Given the description of an element on the screen output the (x, y) to click on. 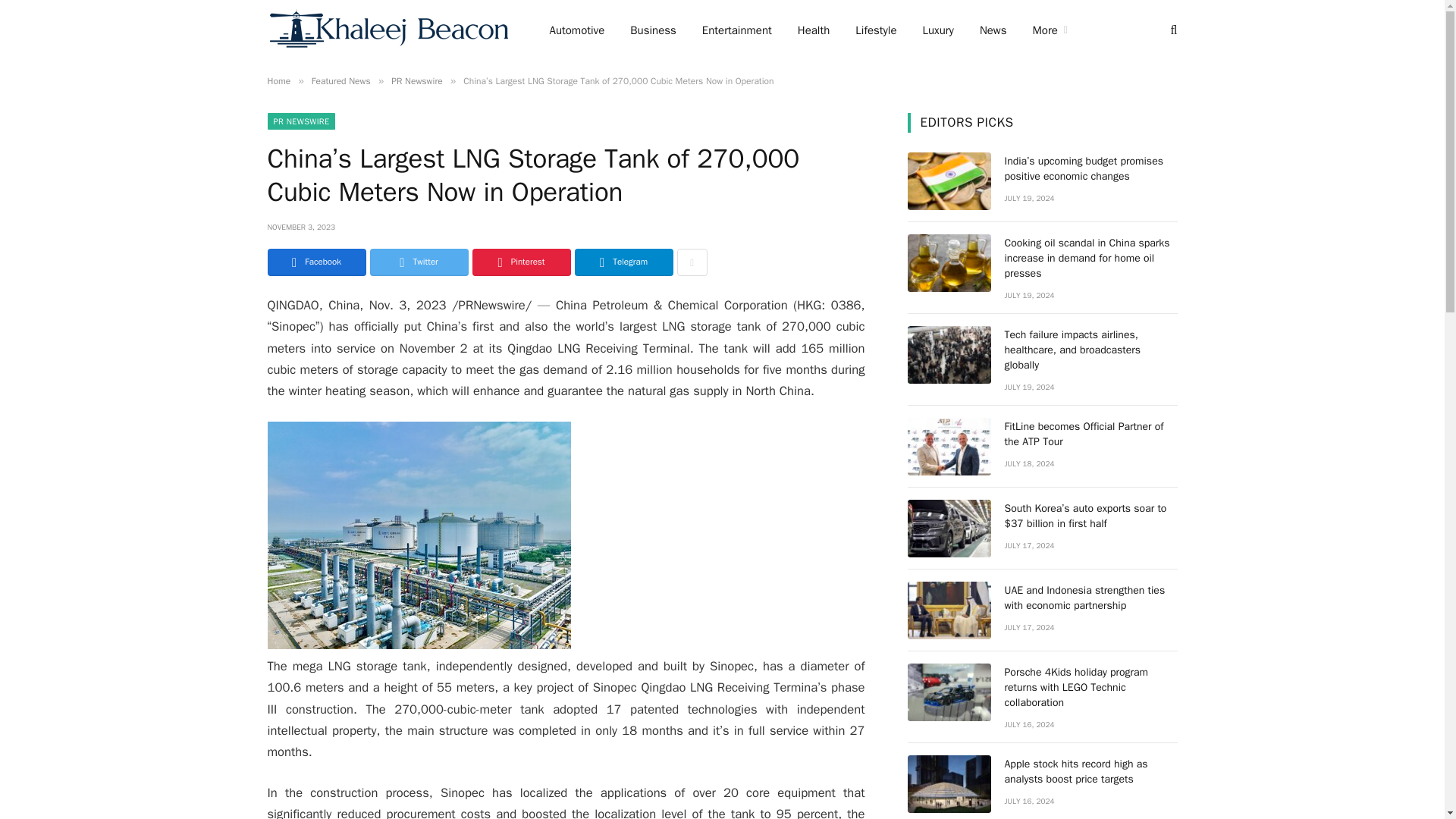
Home (277, 80)
Business (652, 30)
Featured News (341, 80)
PR NEWSWIRE (300, 121)
Entertainment (736, 30)
Share on Pinterest (520, 262)
Khaleej Beacon (387, 29)
Twitter (418, 262)
Facebook (315, 262)
Share on Facebook (315, 262)
Luxury (938, 30)
Automotive (577, 30)
Health (813, 30)
PR Newswire (416, 80)
Lifestyle (875, 30)
